Given the description of an element on the screen output the (x, y) to click on. 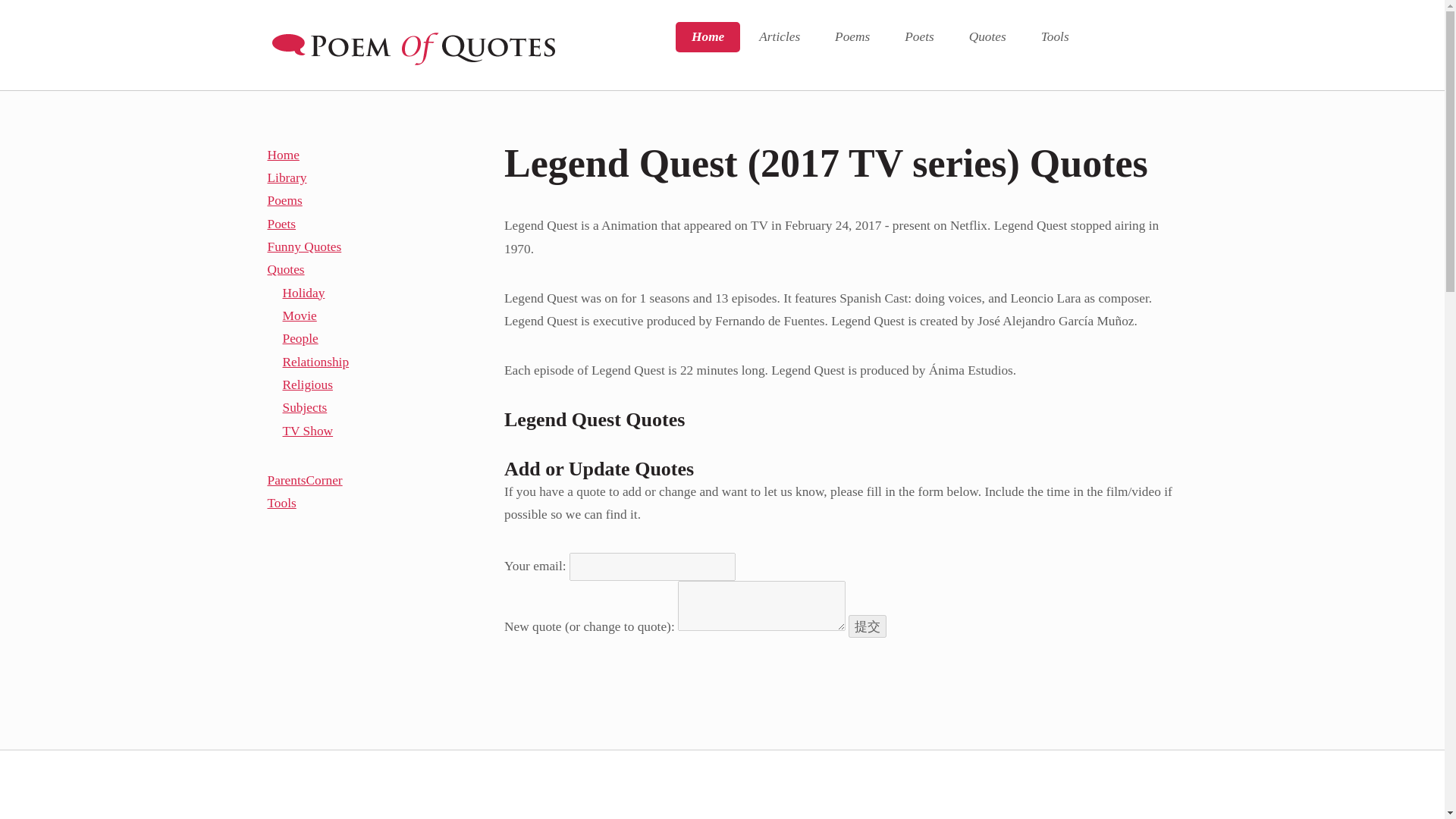
Poets (918, 37)
Quotes (987, 37)
Articles (778, 37)
Poems (851, 37)
Home (707, 37)
